Given the description of an element on the screen output the (x, y) to click on. 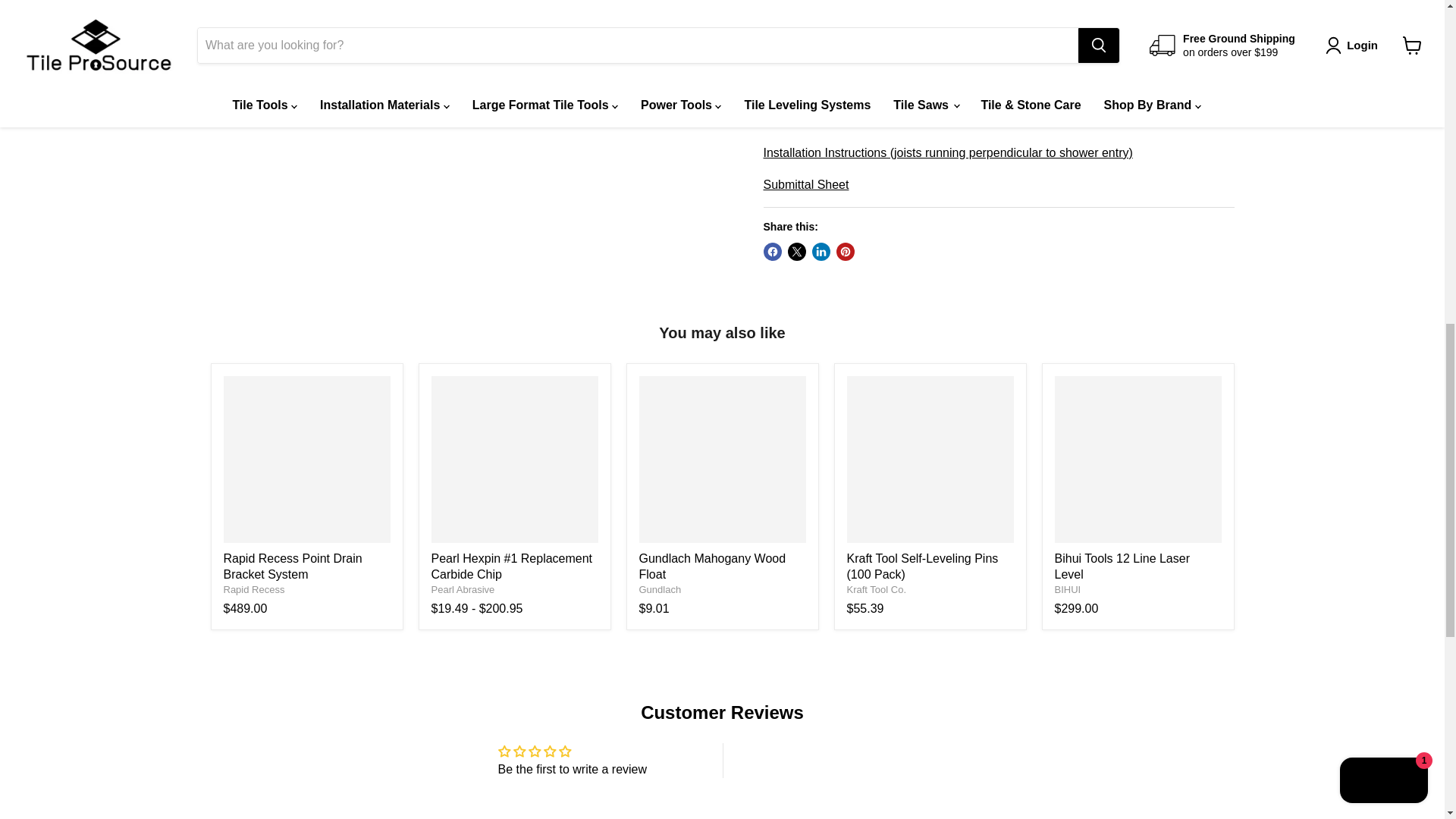
Rapid Recess (252, 589)
Rapid Recess RRT2CSLDK Submittal Sheet (805, 184)
Pearl Abrasive (462, 589)
Gundlach (660, 589)
BIHUI (1067, 589)
Kraft Tool Co. (875, 589)
